Given the description of an element on the screen output the (x, y) to click on. 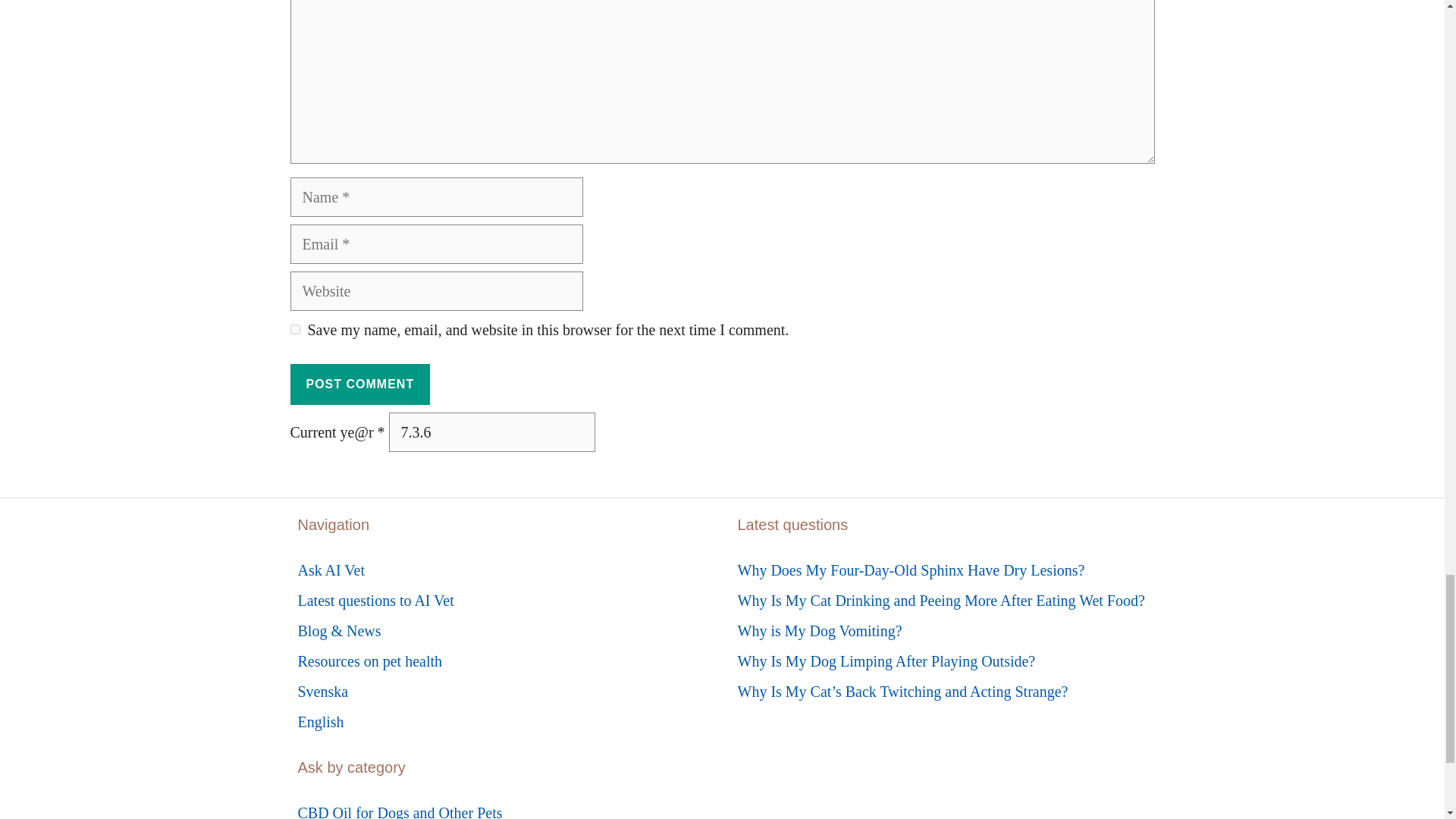
Ask AI Vet (331, 569)
English (320, 721)
Post Comment (359, 383)
Why Is My Dog Limping After Playing Outside? (885, 660)
7.3.6 (491, 432)
Post Comment (359, 383)
Resources on pet health (369, 660)
Why is My Dog Vomiting? (818, 630)
yes (294, 329)
Svenska (322, 691)
Why Does My Four-Day-Old Sphinx Have Dry Lesions? (910, 569)
Latest questions to AI Vet (374, 600)
CBD Oil for Dogs and Other Pets (399, 811)
